Given the description of an element on the screen output the (x, y) to click on. 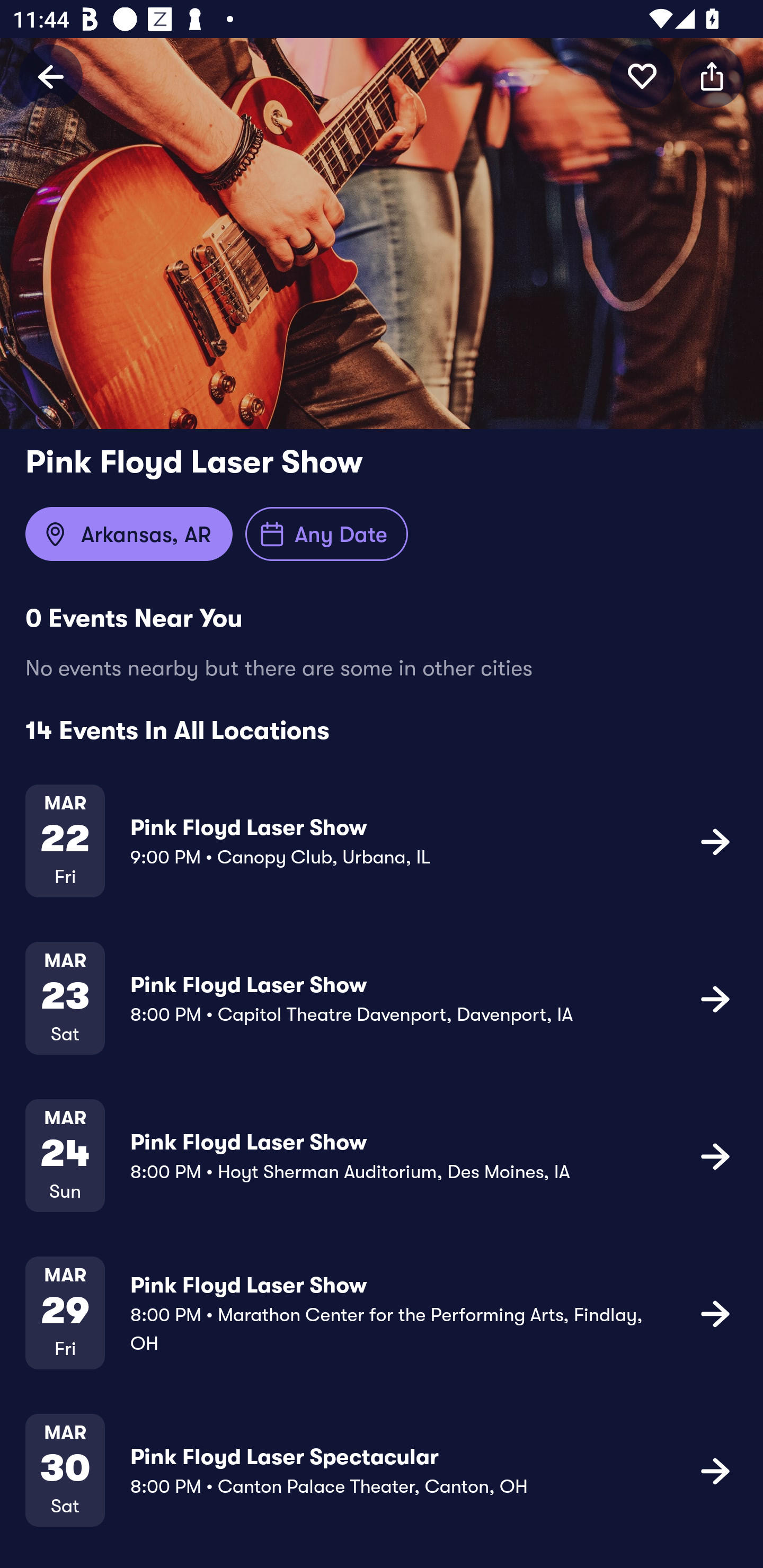
Back (50, 75)
icon button (641, 75)
icon button (711, 75)
Arkansas, AR (128, 533)
Any Date (326, 533)
icon button (714, 840)
icon button (714, 998)
icon button (714, 1155)
icon button (714, 1312)
icon button (714, 1470)
